Given the description of an element on the screen output the (x, y) to click on. 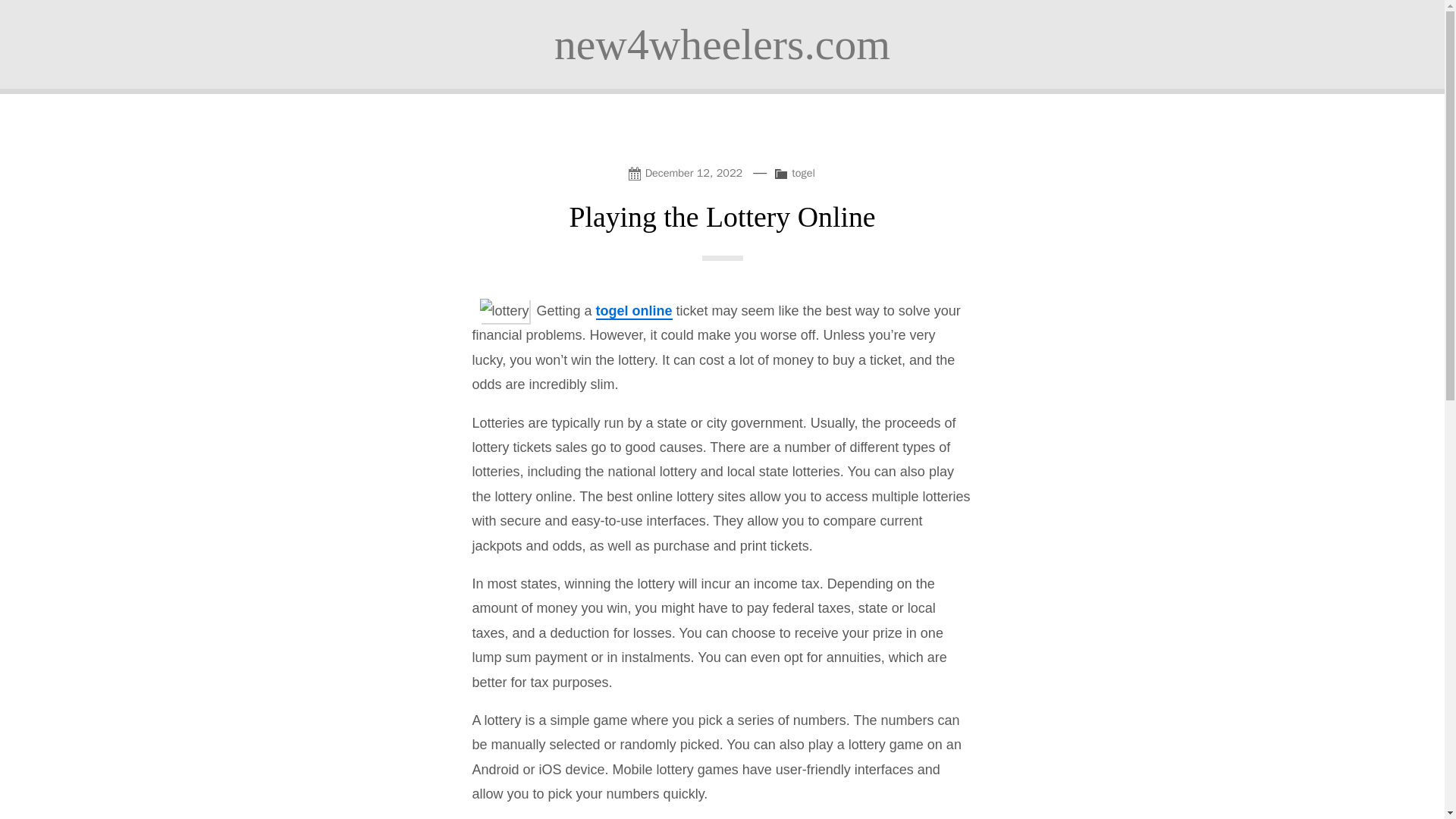
togel (803, 172)
December 12, 2022 (688, 171)
Playing the Lottery Online (722, 216)
togel online (633, 311)
new4wheelers.com (721, 43)
